Given the description of an element on the screen output the (x, y) to click on. 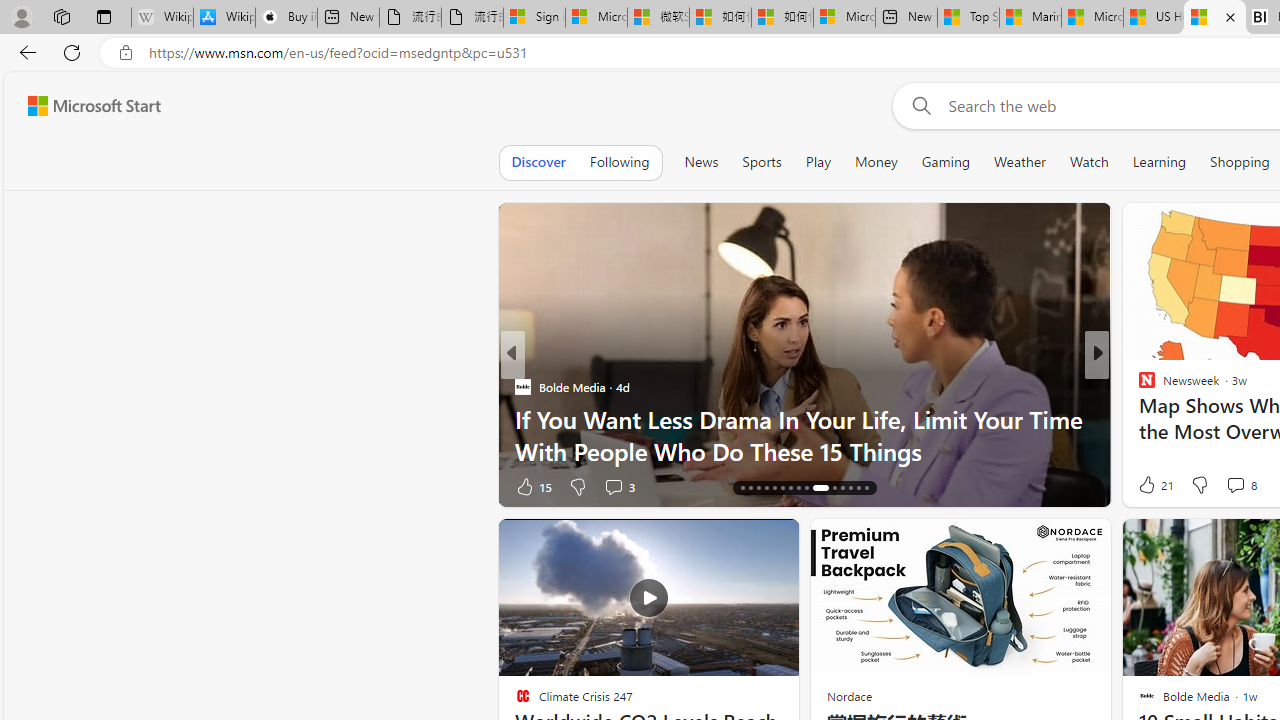
Hide this story (738, 542)
You're following Newsweek (445, 490)
AutomationID: tab-26 (833, 487)
View comments 31 Comment (1229, 485)
Marine life - MSN (1030, 17)
Shopping (1240, 161)
AutomationID: tab-17 (750, 487)
